Given the description of an element on the screen output the (x, y) to click on. 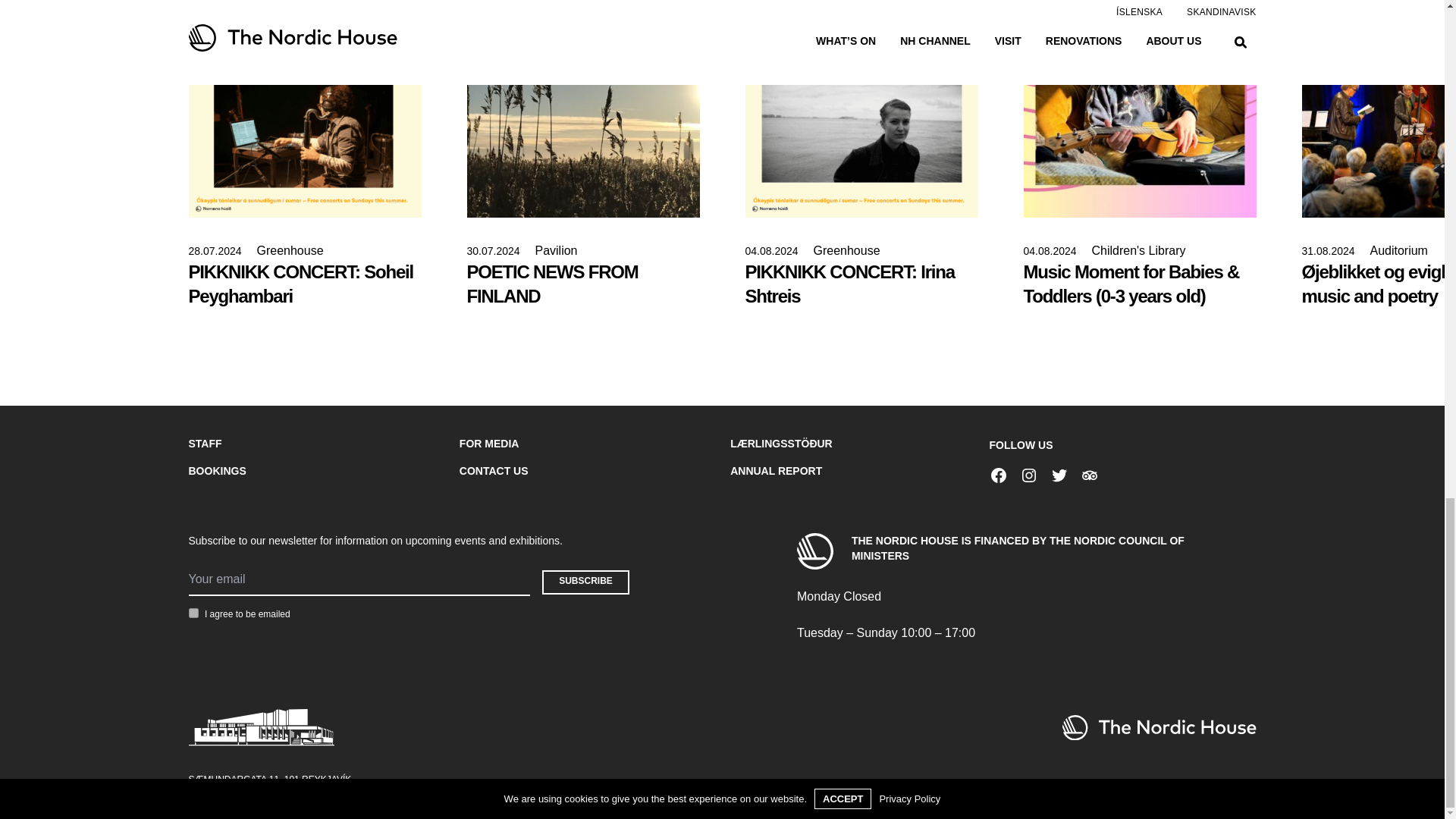
on (192, 613)
The Nordic House (1158, 727)
